Given the description of an element on the screen output the (x, y) to click on. 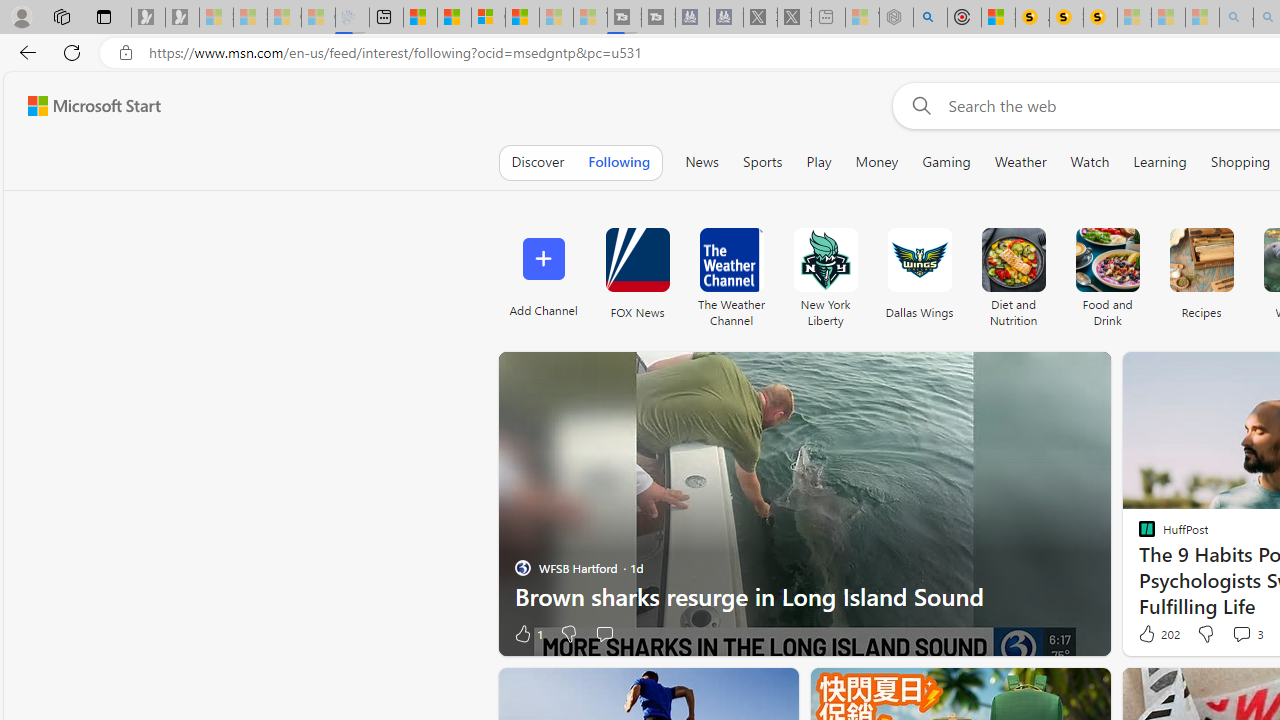
Add Channel (542, 272)
Overview (488, 17)
Recipes (1200, 260)
View comments 3 Comment (1247, 633)
Play (818, 162)
Web search (917, 105)
Weather (1019, 162)
